Given the description of an element on the screen output the (x, y) to click on. 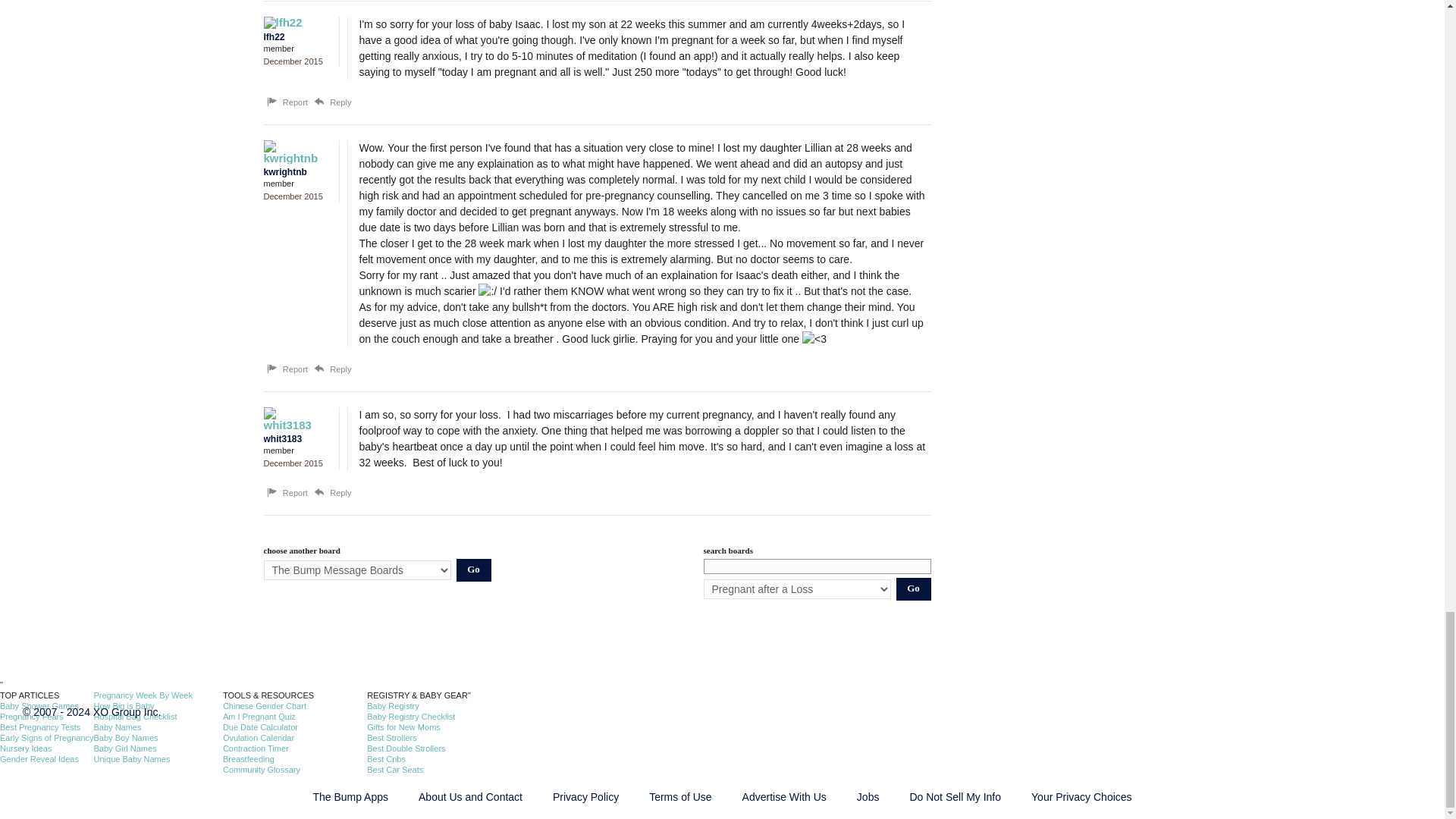
Go (913, 589)
Go (474, 569)
